Given the description of an element on the screen output the (x, y) to click on. 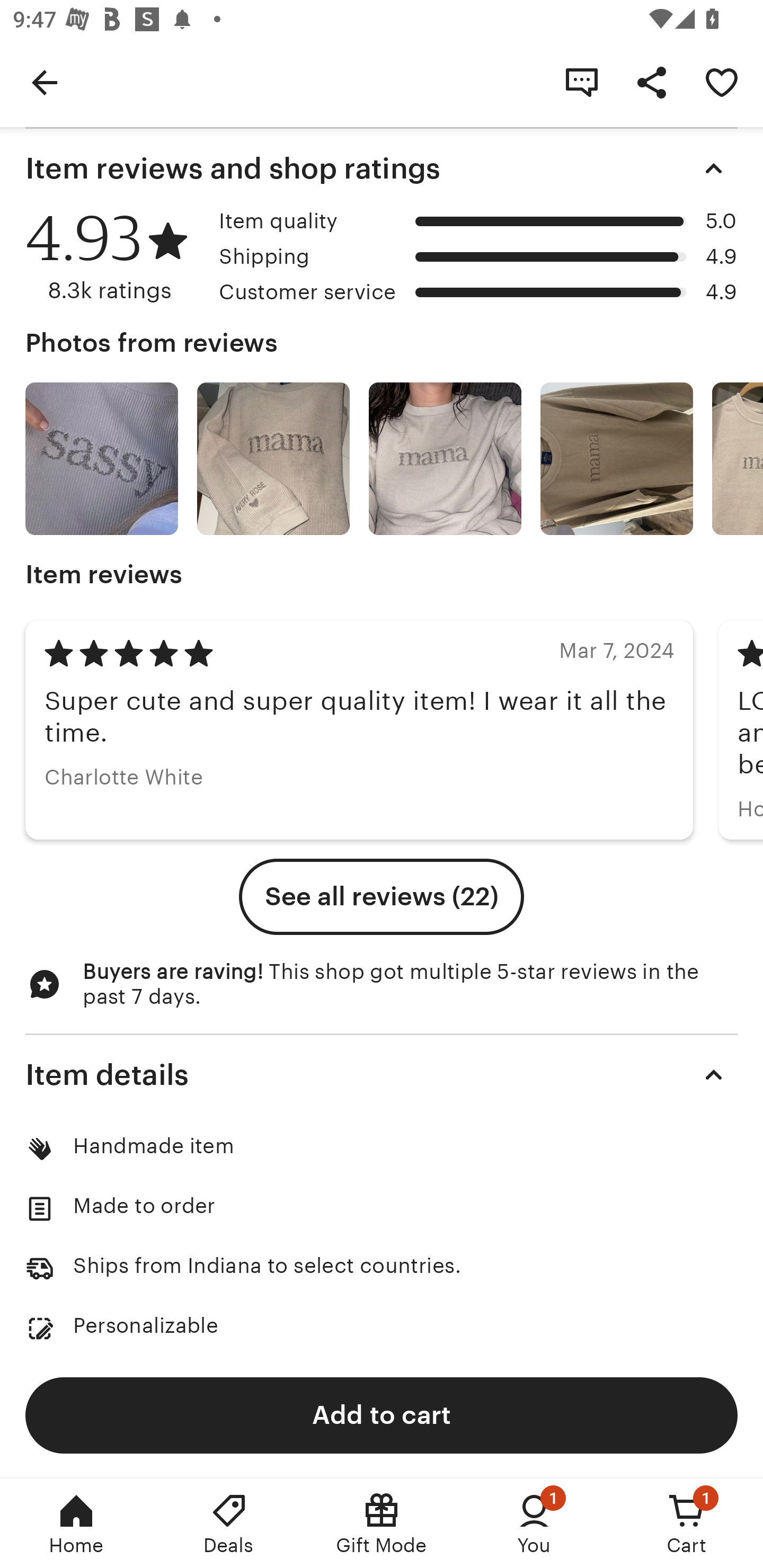
Navigate up (44, 81)
Contact shop (581, 81)
Share (651, 81)
Item reviews and shop ratings (381, 168)
4.93 8.3k ratings (115, 257)
Photo from review (101, 458)
Photo from review (272, 458)
Photo from review (444, 458)
Photo from review (616, 458)
See all reviews (22) (381, 896)
Item details (381, 1074)
Add to cart (381, 1414)
Deals (228, 1523)
Gift Mode (381, 1523)
You, 1 new notification You (533, 1523)
Cart, 1 new notification Cart (686, 1523)
